Given the description of an element on the screen output the (x, y) to click on. 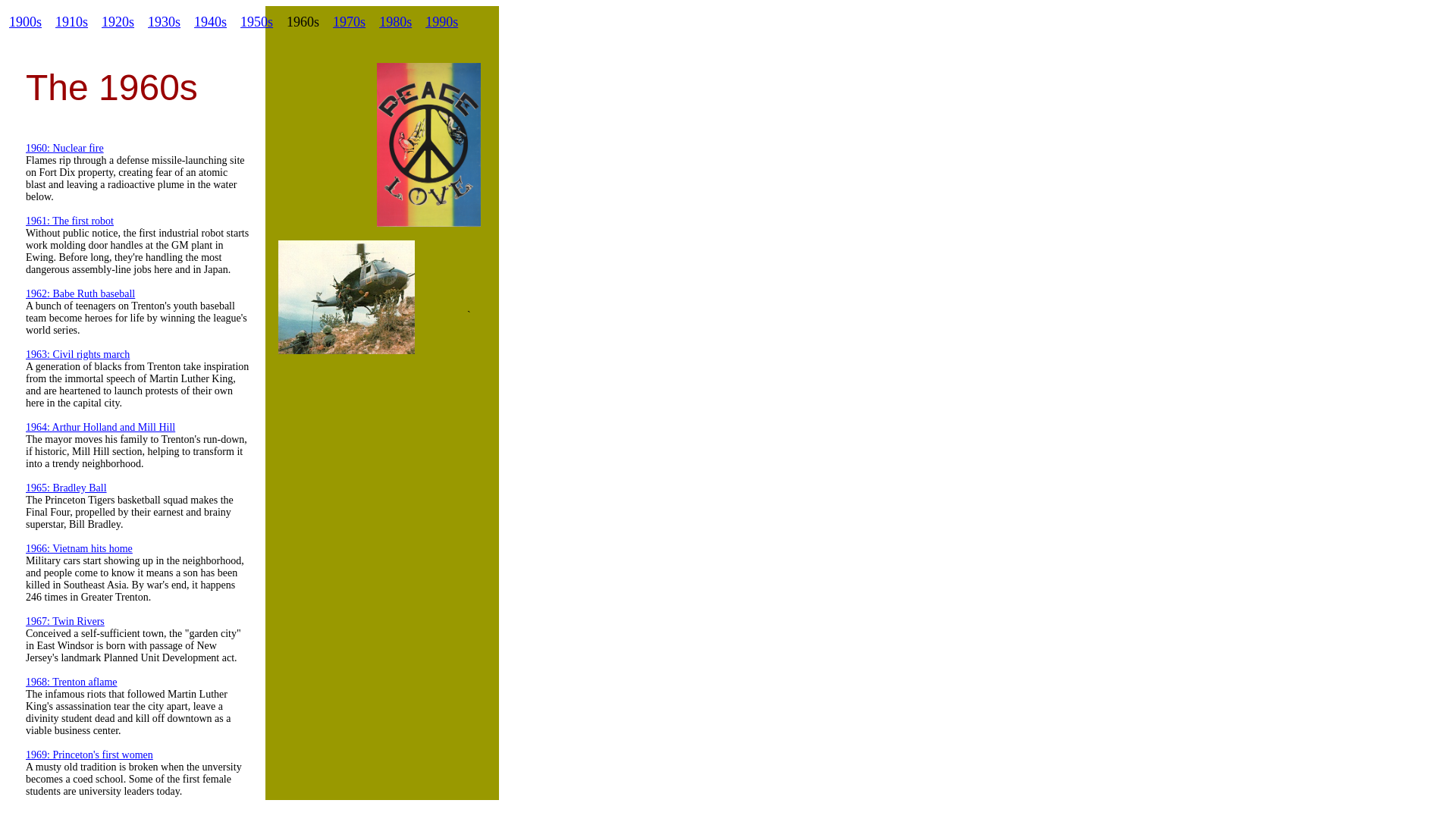
1910s (71, 21)
1968: Trenton aflame (71, 680)
1969: Princeton's first women (89, 753)
1967: Twin Rivers (65, 620)
1962: Babe Ruth baseball (80, 292)
1900s (25, 21)
1940s (210, 21)
1920s (117, 21)
1970s (349, 21)
1980s (395, 21)
1930s (164, 21)
1961: The first robot (69, 226)
1950s (256, 21)
1963: Civil rights march (77, 353)
1964: Arthur Holland and Mill Hill (100, 426)
